Given the description of an element on the screen output the (x, y) to click on. 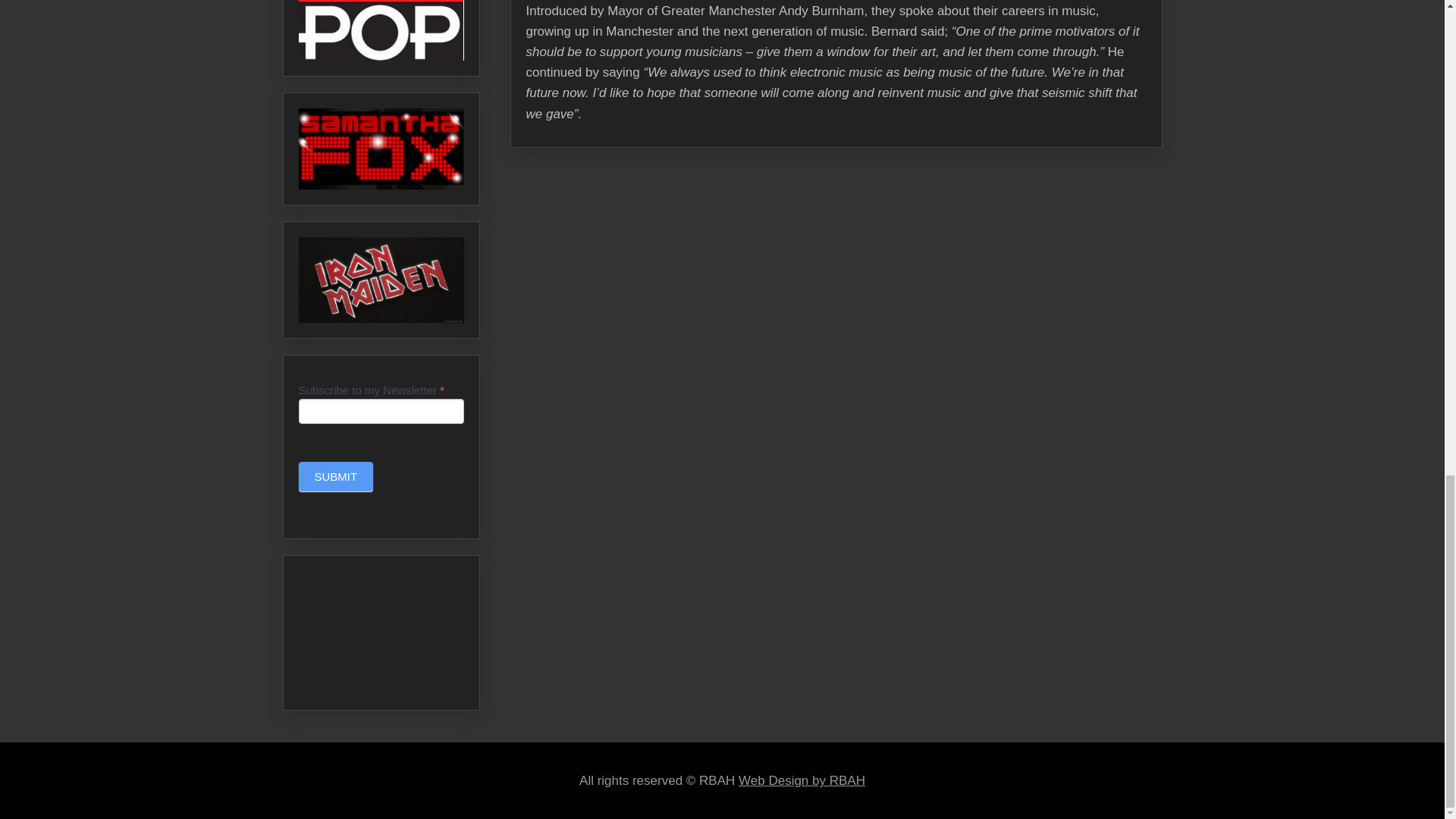
SEOS THEMES - Music Press (801, 780)
